Given the description of an element on the screen output the (x, y) to click on. 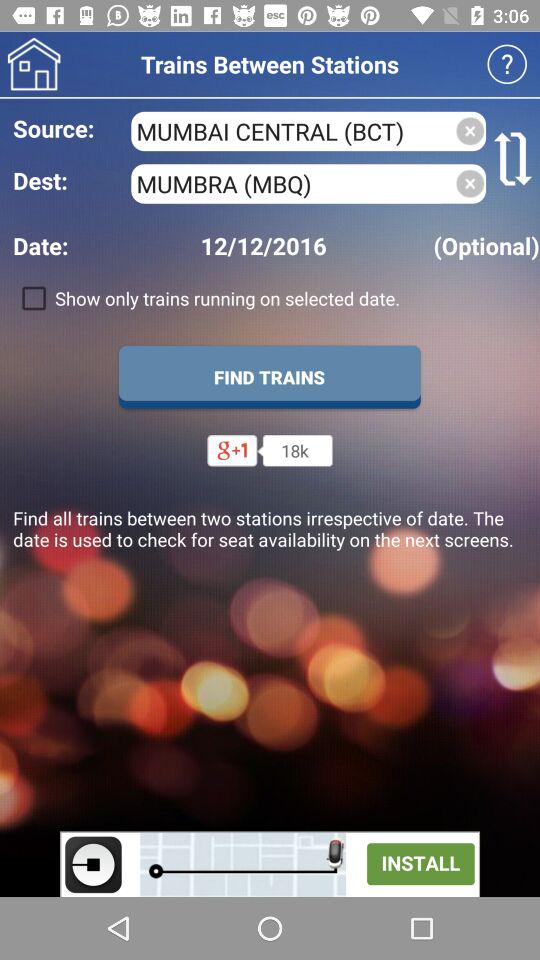
help (506, 64)
